Given the description of an element on the screen output the (x, y) to click on. 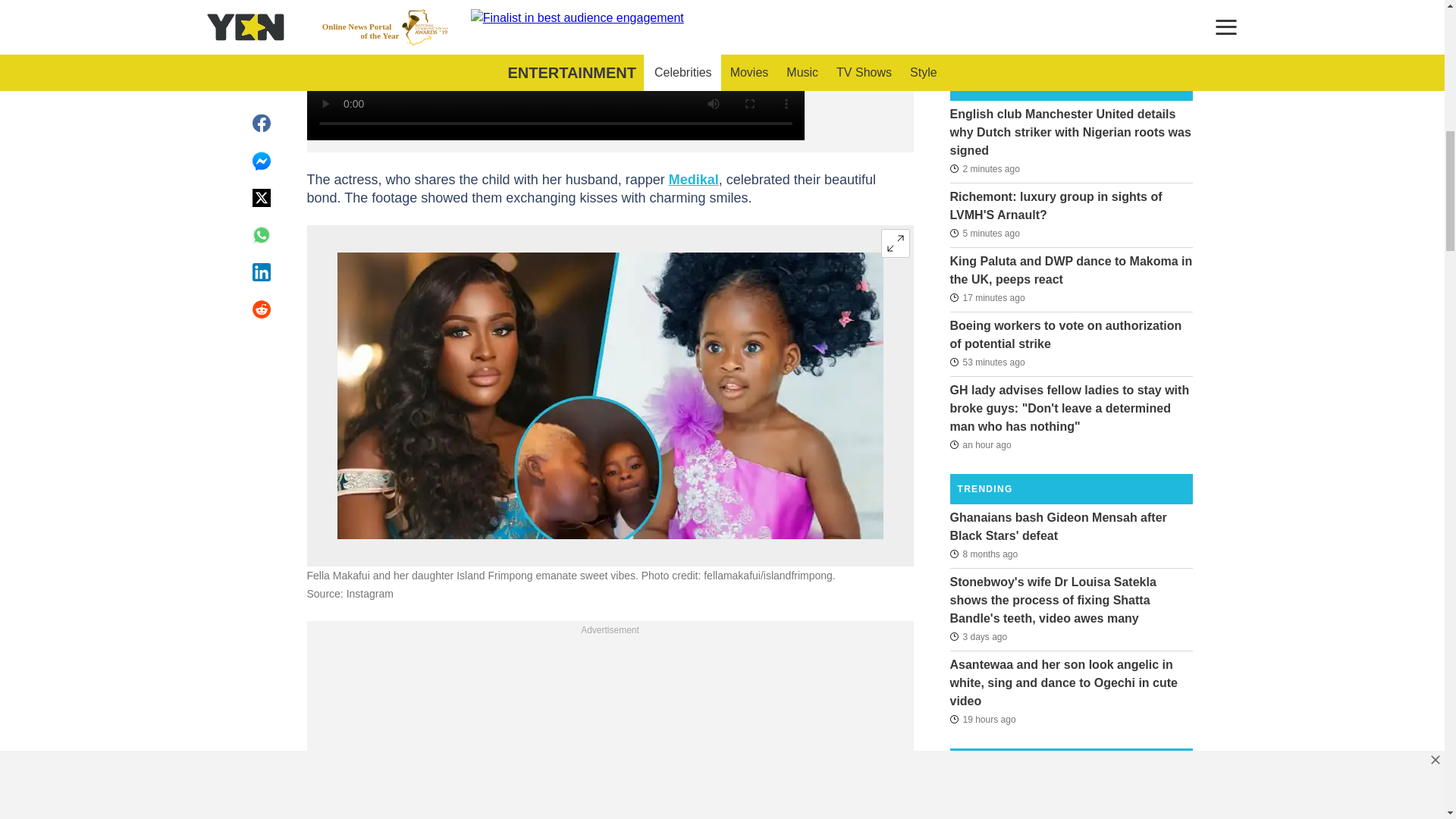
3rd party ad content (609, 729)
Expand image (895, 243)
2024-07-17T08:12:03Z (984, 233)
2024-07-17T07:24:03Z (987, 361)
2024-07-17T07:13:25Z (979, 443)
2023-10-18T07:29:46Z (983, 553)
2024-07-17T08:00:23Z (987, 297)
2024-07-17T08:15:21Z (984, 167)
